Given the description of an element on the screen output the (x, y) to click on. 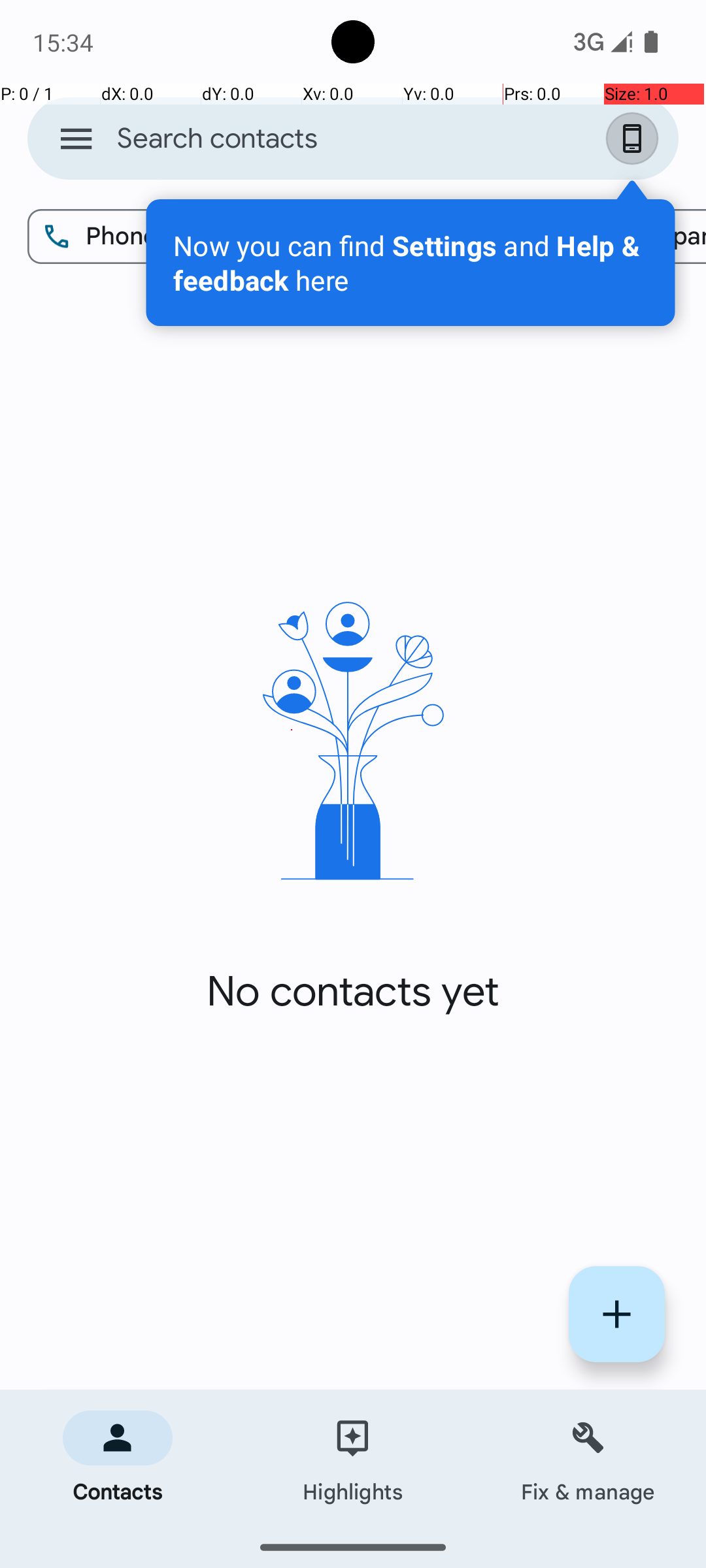
Create contact Element type: android.widget.ImageButton (616, 1314)
Contacts Element type: android.widget.FrameLayout (117, 1457)
Highlights Element type: android.widget.FrameLayout (352, 1457)
Fix & manage Element type: android.widget.FrameLayout (588, 1457)
Open navigation drawer Element type: android.widget.ImageButton (75, 138)
Signed in as Device
Account and settings. Element type: android.widget.FrameLayout (634, 138)
No contacts yet Element type: android.widget.TextView (353, 991)
Phone contacts Element type: android.widget.Button (157, 236)
Email contacts Element type: android.widget.Button (425, 236)
Company Element type: android.widget.Button (634, 236)
Now you can find Settings and Help & feedback here
Open account and settings. Element type: android.view.ViewGroup (409, 262)
Now you can find Settings and Help & feedback here Element type: android.widget.TextView (410, 262)
